Given the description of an element on the screen output the (x, y) to click on. 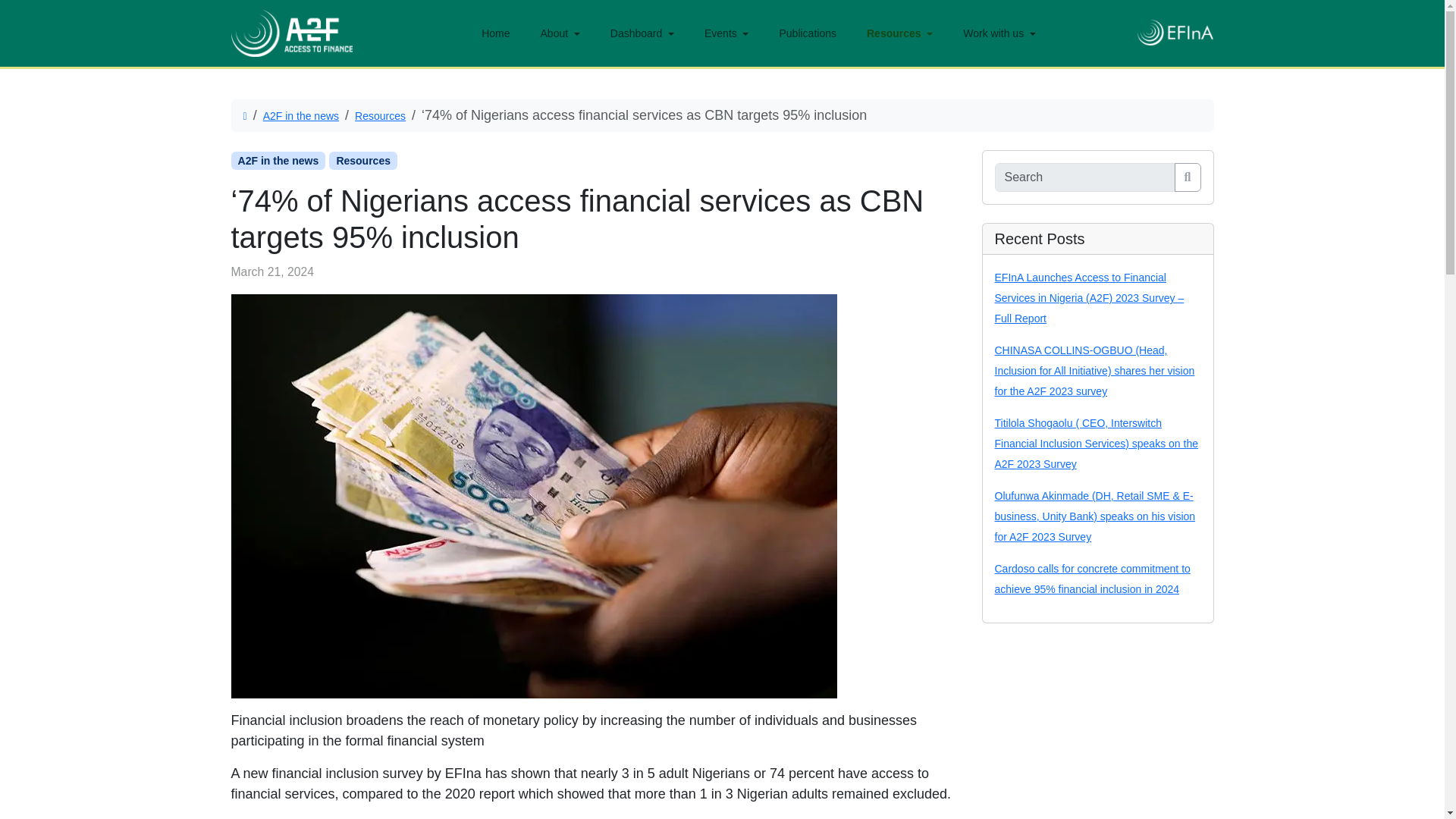
About (553, 33)
A2F in the news (301, 115)
Events (719, 33)
Resources (892, 33)
A2F in the news (277, 160)
Dashboard (634, 33)
Home (487, 33)
Resources (380, 115)
Work with us (991, 33)
Search (1187, 176)
Resources (363, 160)
Publications (799, 33)
